Given the description of an element on the screen output the (x, y) to click on. 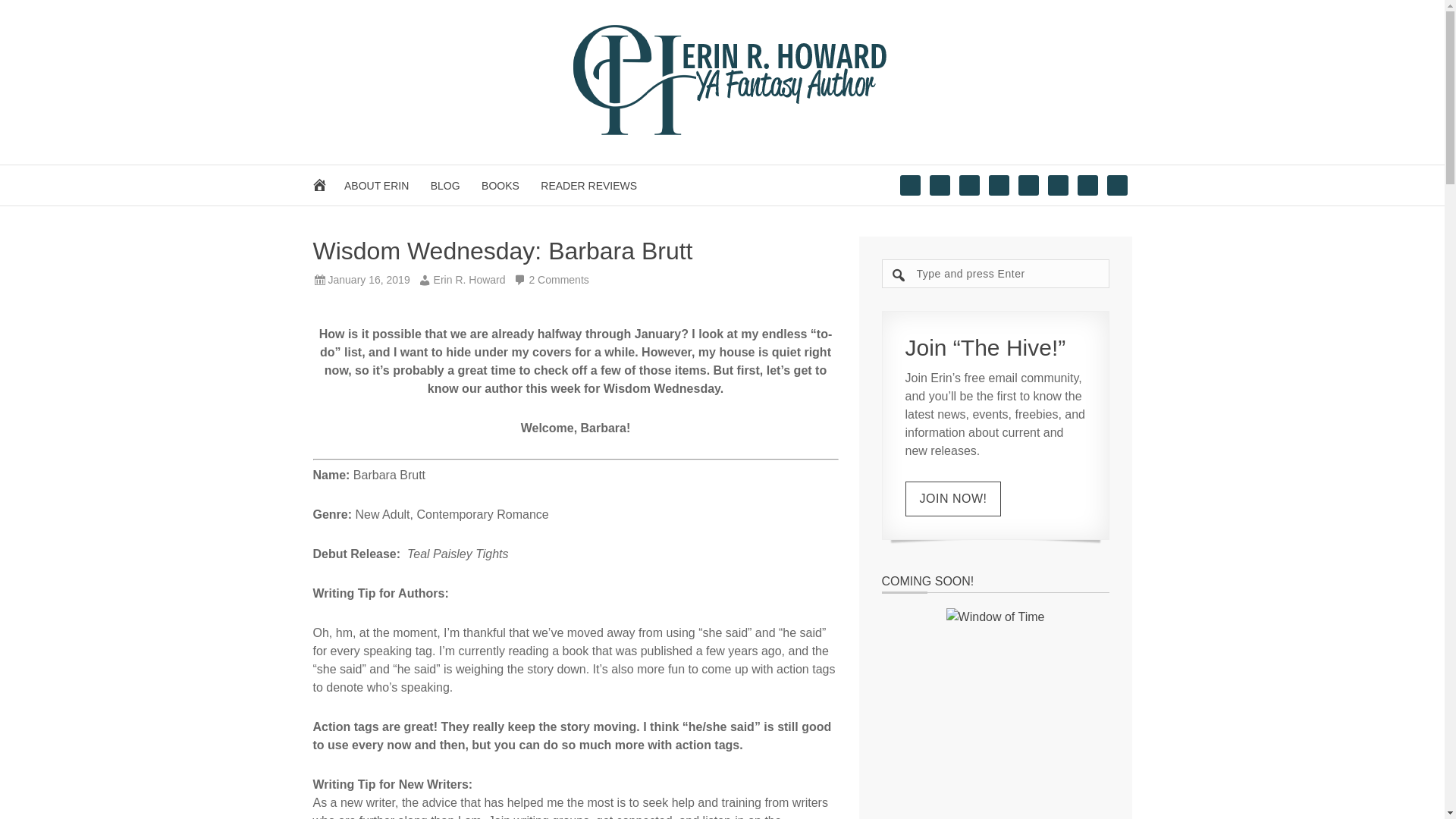
Search (1131, 265)
Search (1131, 265)
Erin R. Howard (459, 279)
Erin R. Howard (722, 132)
Erin R. Howard (722, 79)
2 Comments (558, 279)
READER REVIEWS (588, 185)
ABOUT ERIN (375, 185)
BLOG (445, 185)
BOOKS (499, 185)
